Given the description of an element on the screen output the (x, y) to click on. 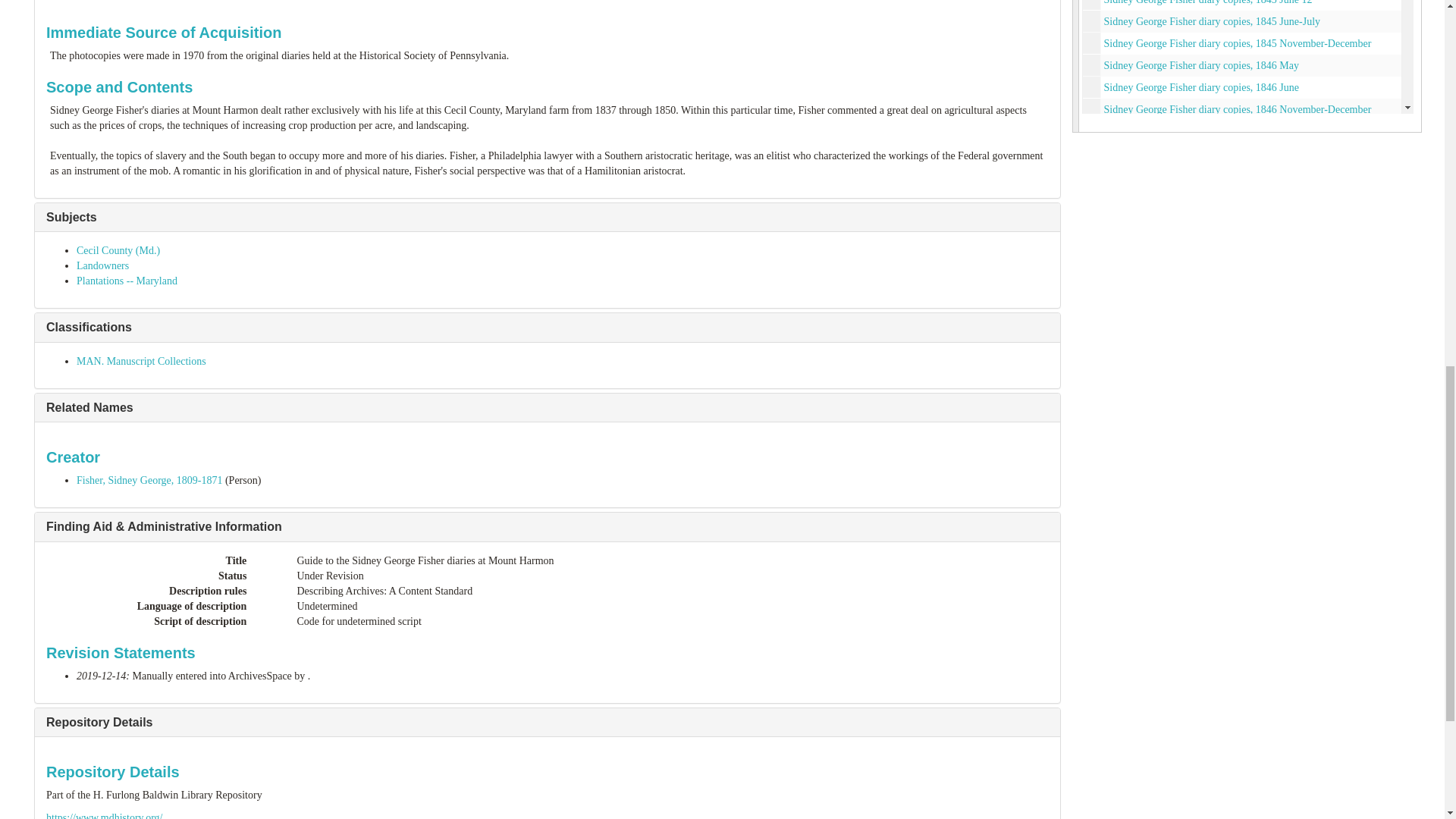
Related Names (89, 407)
Landowners (103, 265)
Classifications (89, 327)
Plantations -- Maryland (127, 280)
MAN. Manuscript Collections (141, 360)
Repository Details (99, 721)
Subjects (71, 216)
Fisher, Sidney George, 1809-1871 (149, 480)
